Given the description of an element on the screen output the (x, y) to click on. 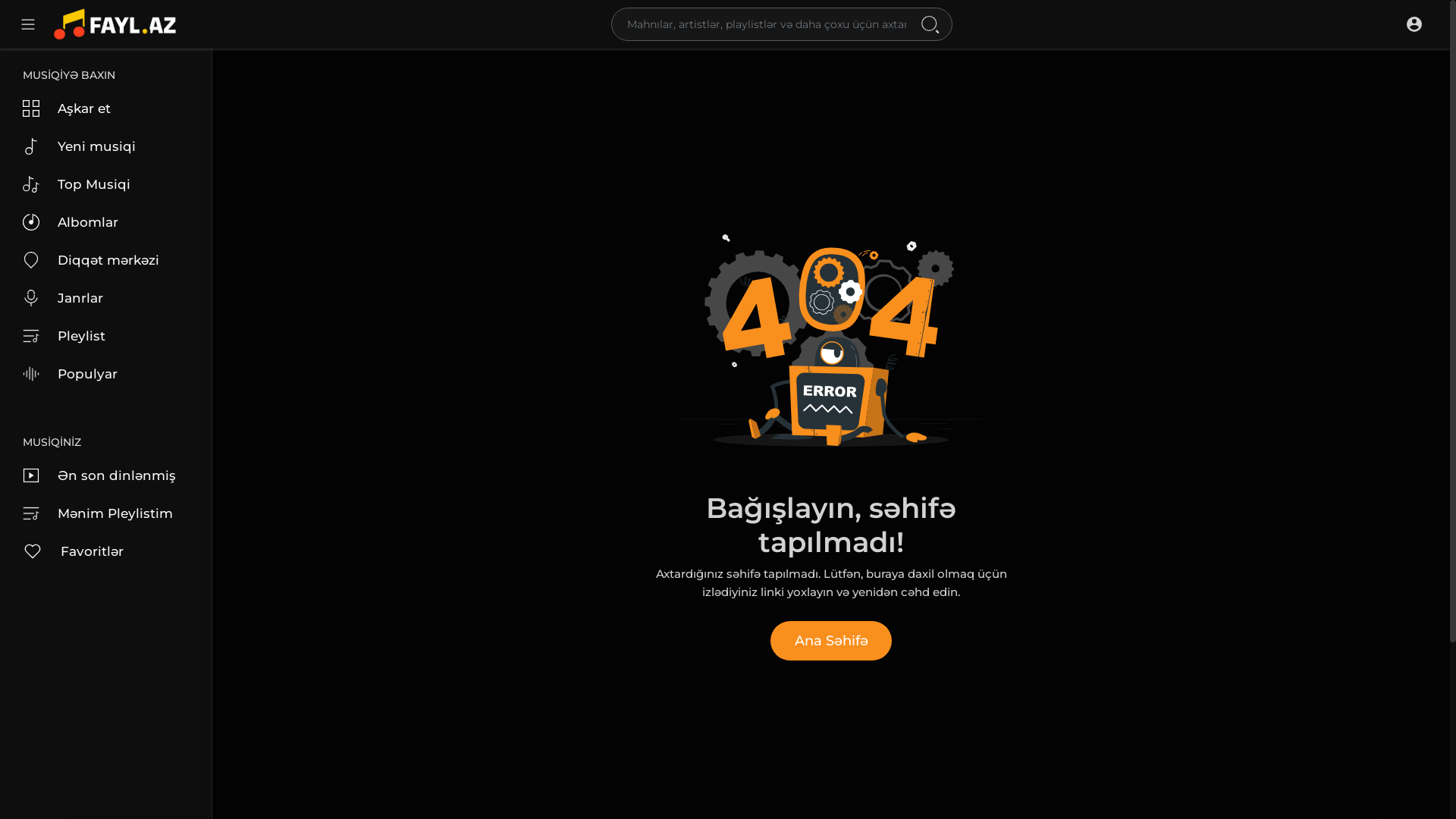
Yeni musiqi Element type: text (105, 146)
Albomlar Element type: text (105, 222)
Top Musiqi Element type: text (105, 184)
Pleylist Element type: text (105, 335)
Janrlar Element type: text (105, 297)
Populyar Element type: text (105, 373)
